Given the description of an element on the screen output the (x, y) to click on. 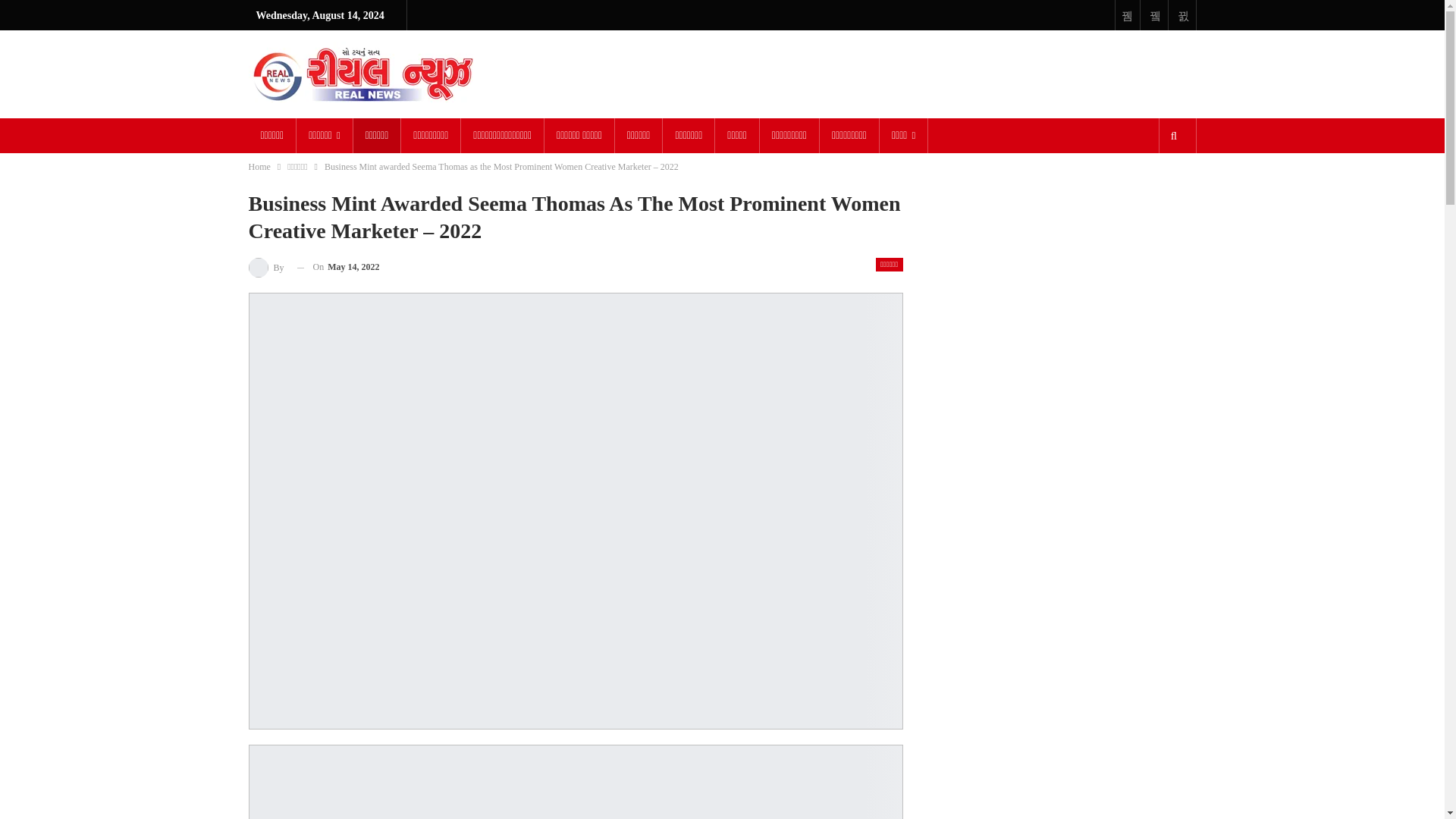
Home (259, 166)
By (266, 267)
Browse Author Articles (266, 267)
